Given the description of an element on the screen output the (x, y) to click on. 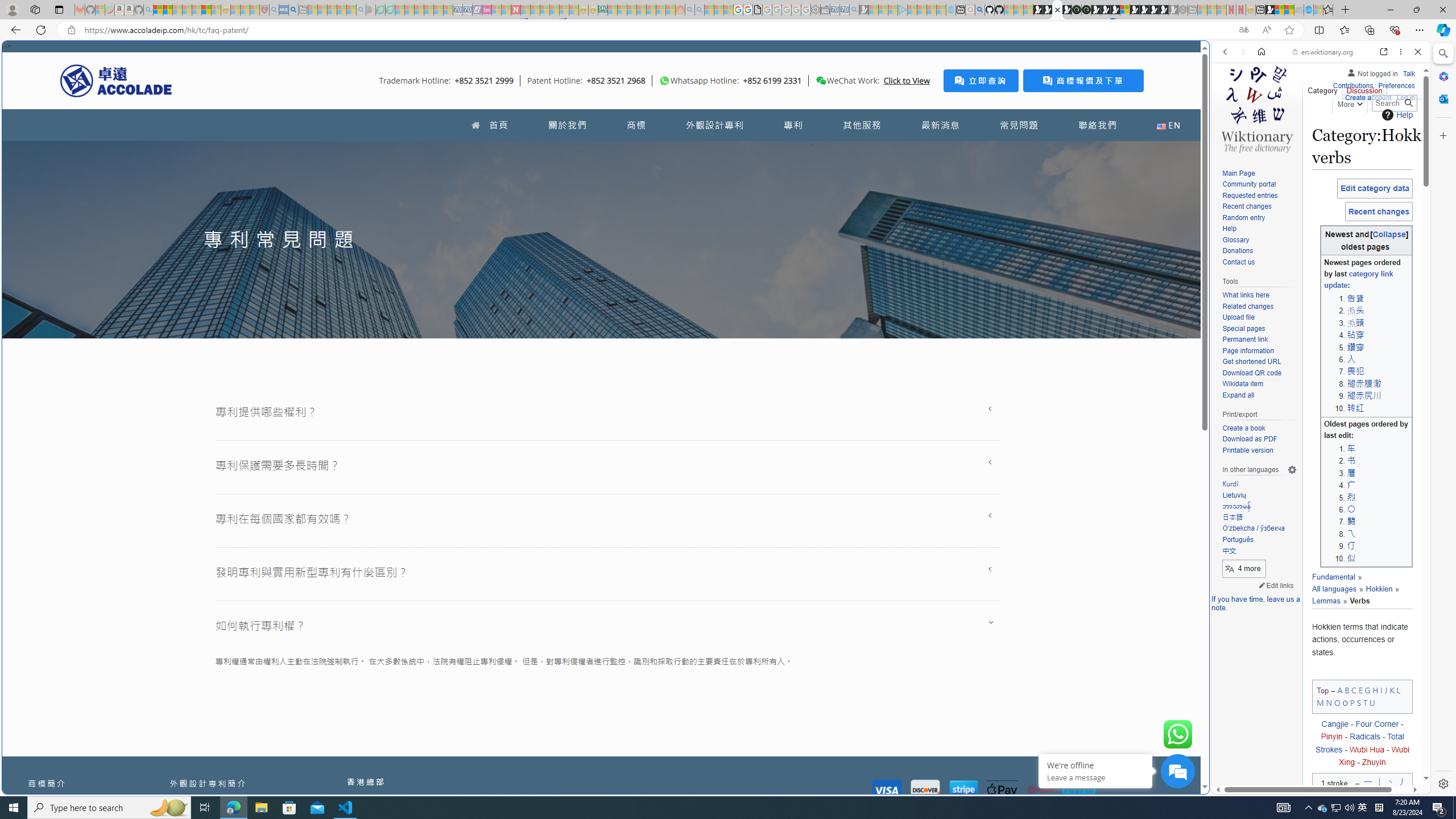
Four Corner (1377, 723)
Log in (1405, 98)
Language settings (1292, 470)
